Given the description of an element on the screen output the (x, y) to click on. 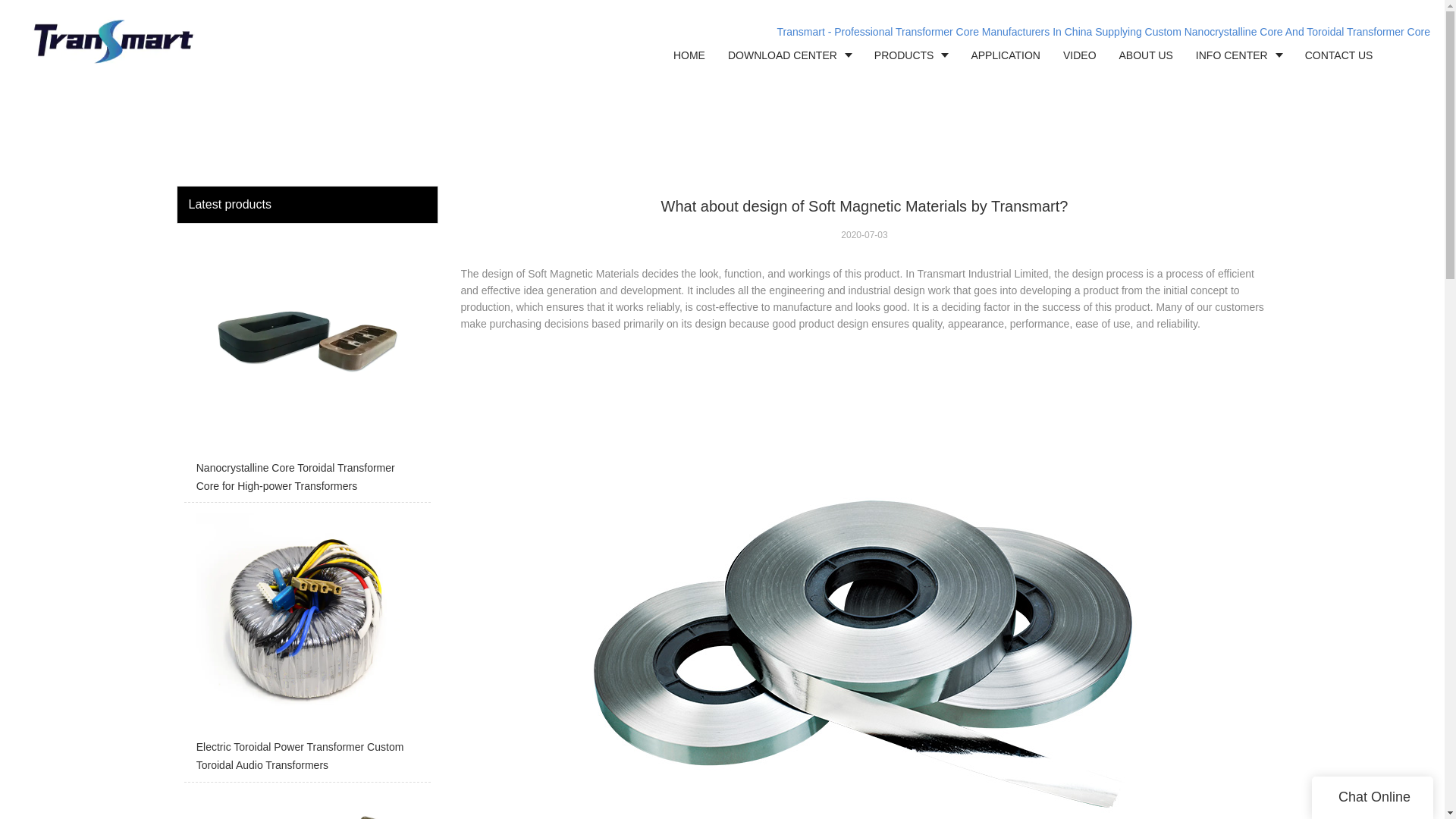
CONTACT US (1339, 55)
HOME (689, 55)
INFO CENTER (1239, 55)
VIDEO (1079, 55)
PRODUCTS (911, 55)
DOWNLOAD CENTER (789, 55)
High Efficiency Mumetal Cores with Nickel Iron material (306, 804)
ABOUT US (1146, 55)
